Given the description of an element on the screen output the (x, y) to click on. 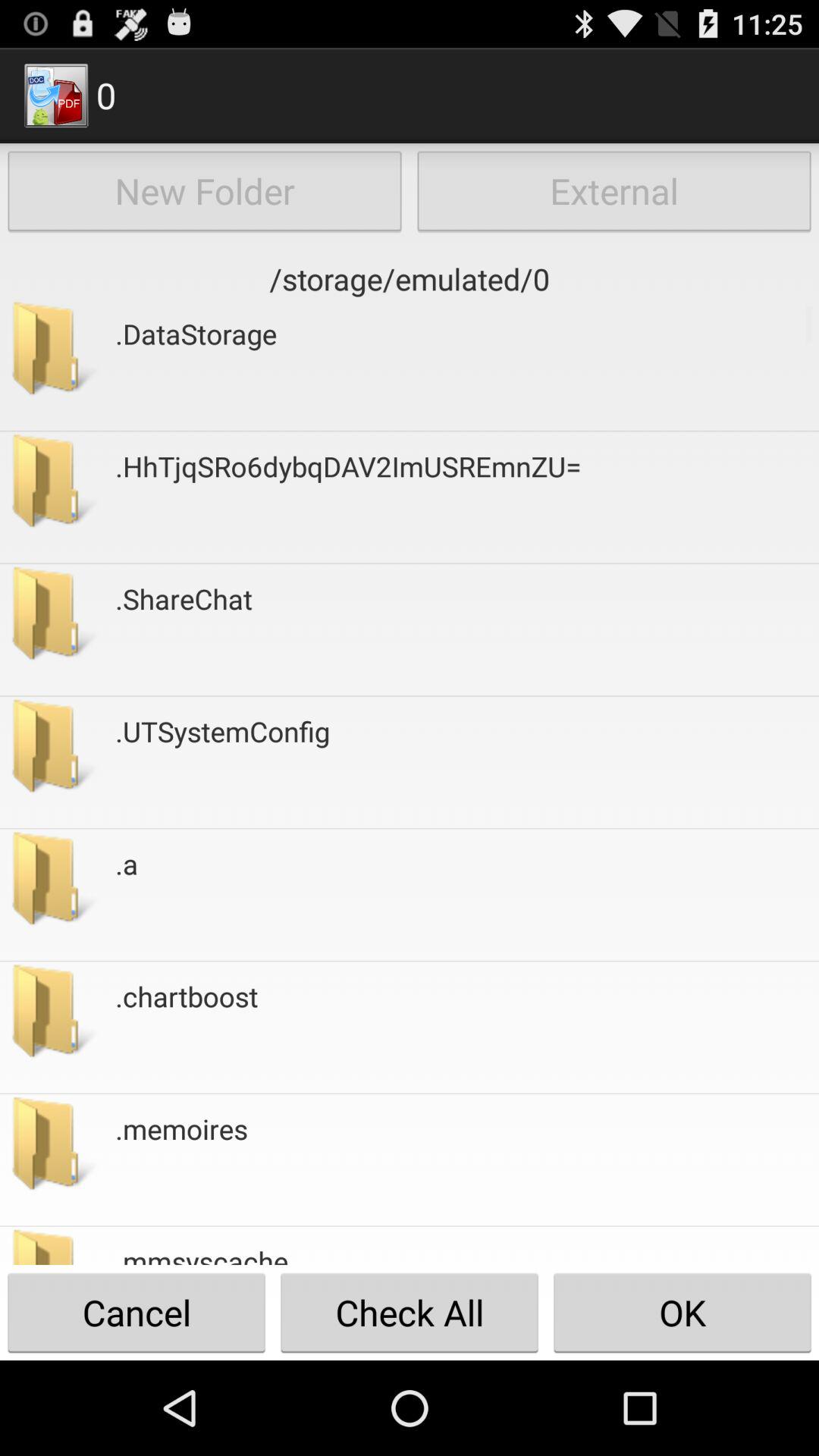
select the button next to external button (204, 190)
